Given the description of an element on the screen output the (x, y) to click on. 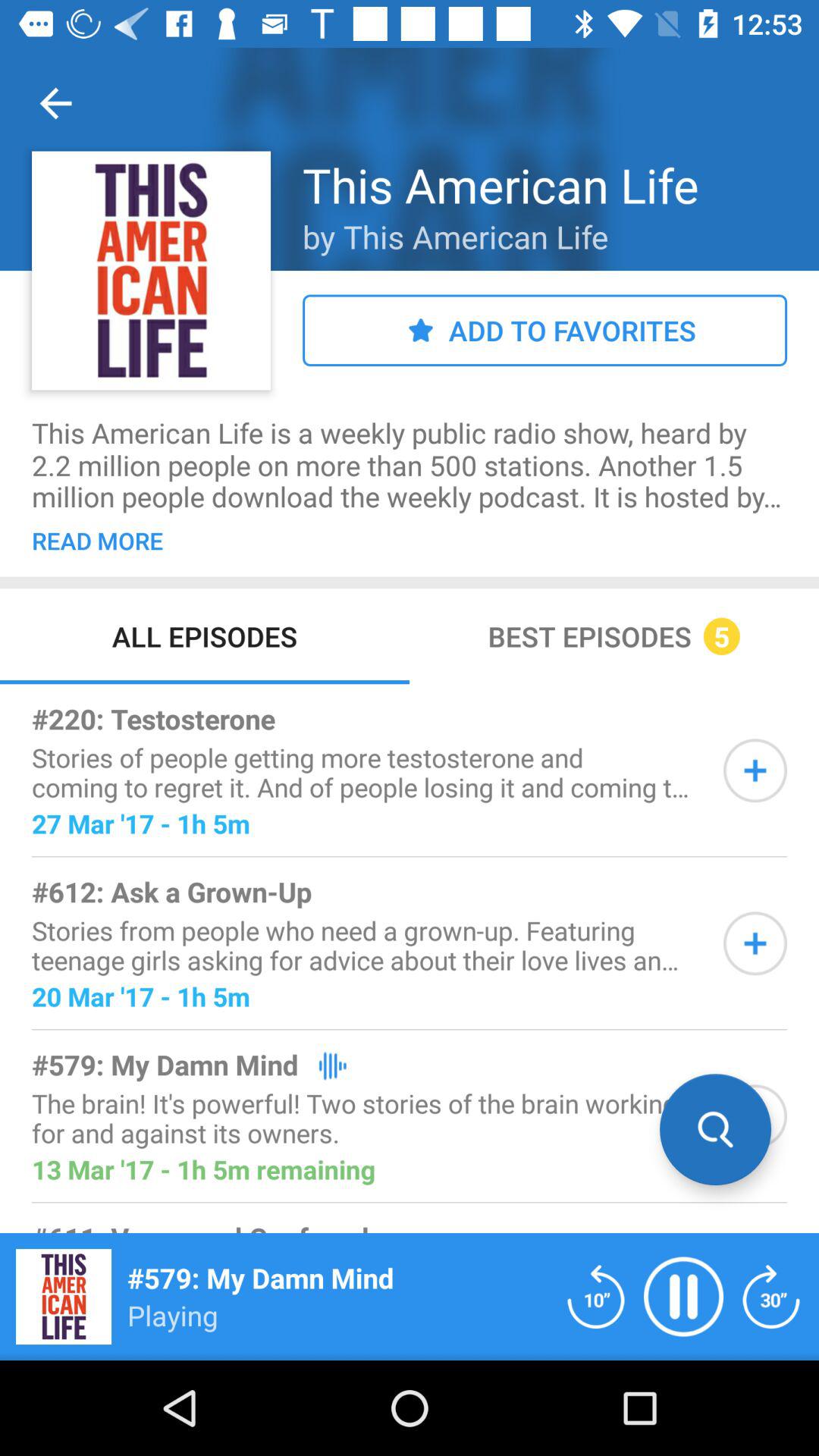
add episode (755, 770)
